Given the description of an element on the screen output the (x, y) to click on. 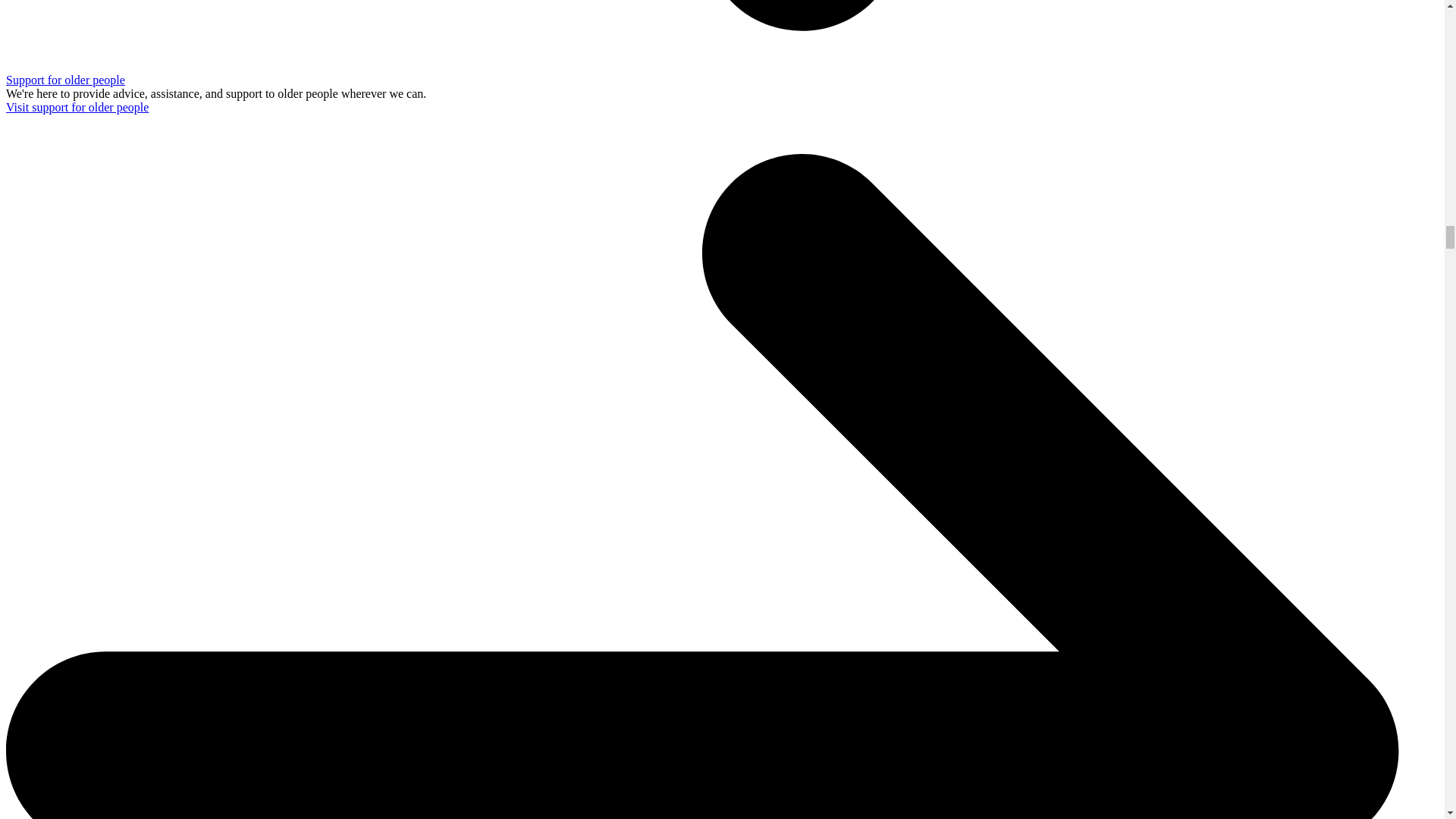
Support for older people (65, 79)
